Given the description of an element on the screen output the (x, y) to click on. 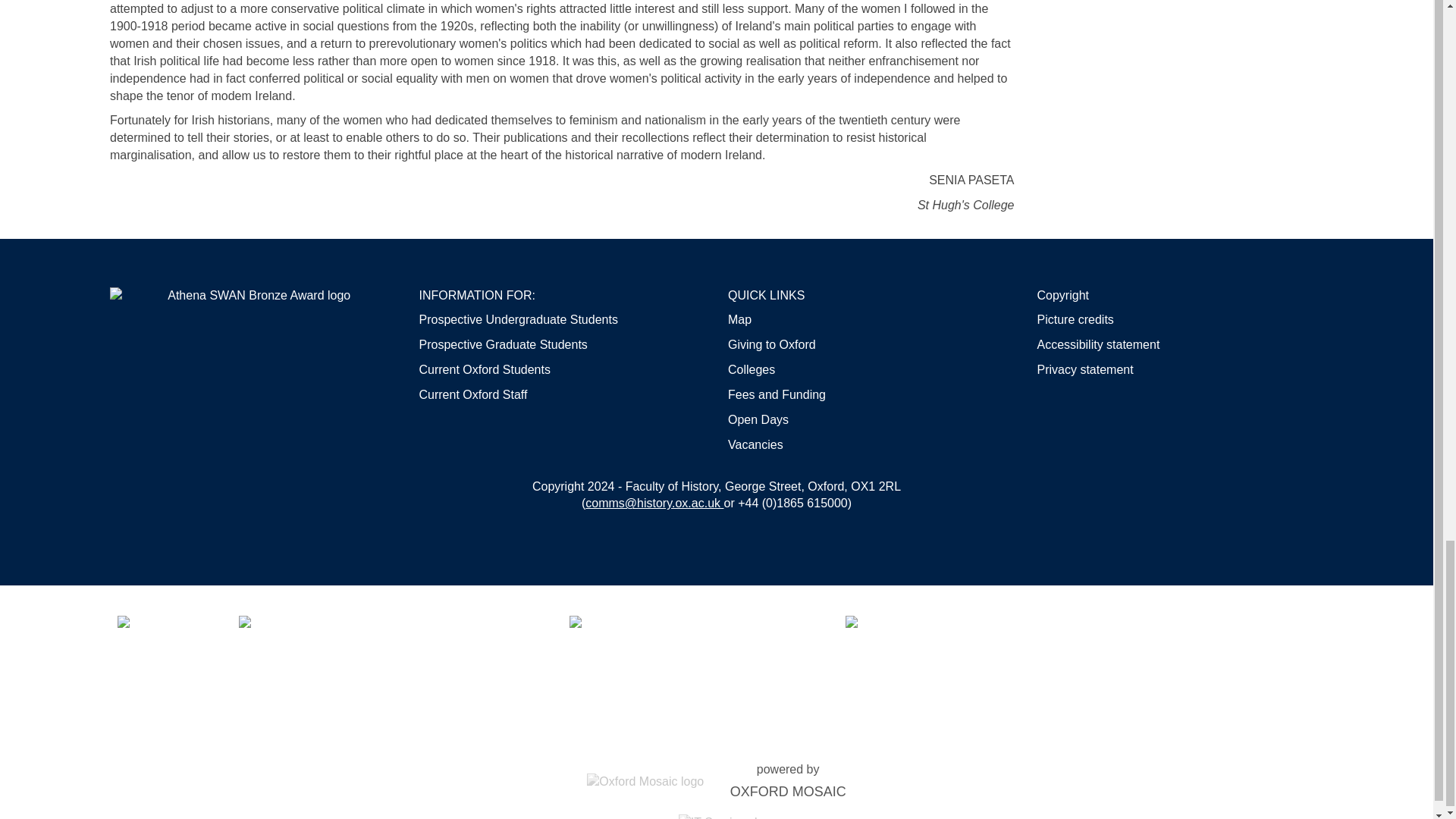
Athena SWAN Bronze Award logo (253, 295)
Humanities Division (388, 660)
The History of Art Department (162, 660)
TORCH (692, 660)
